Given the description of an element on the screen output the (x, y) to click on. 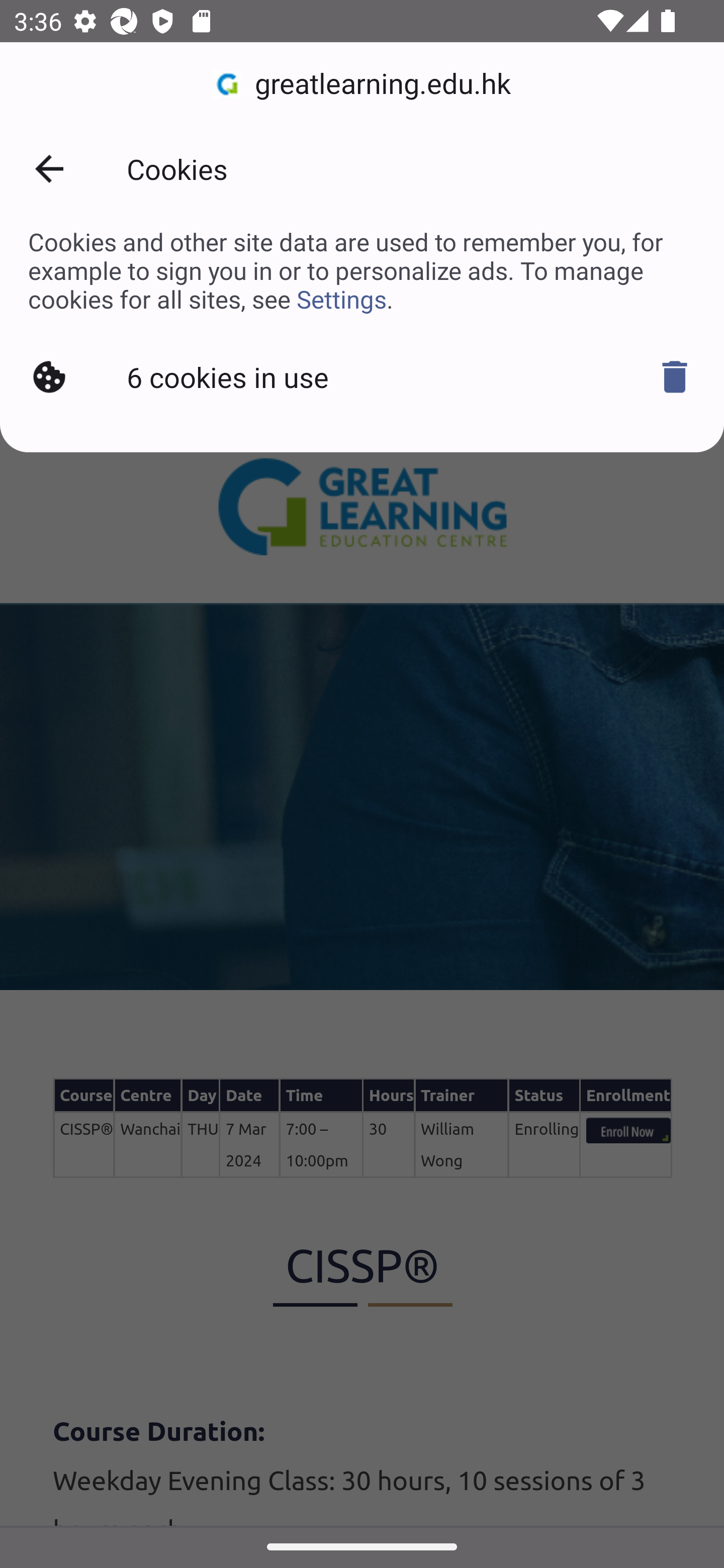
greatlearning.edu.hk (362, 84)
Back (49, 169)
6 cookies in use Clear cookies? (362, 376)
